Given the description of an element on the screen output the (x, y) to click on. 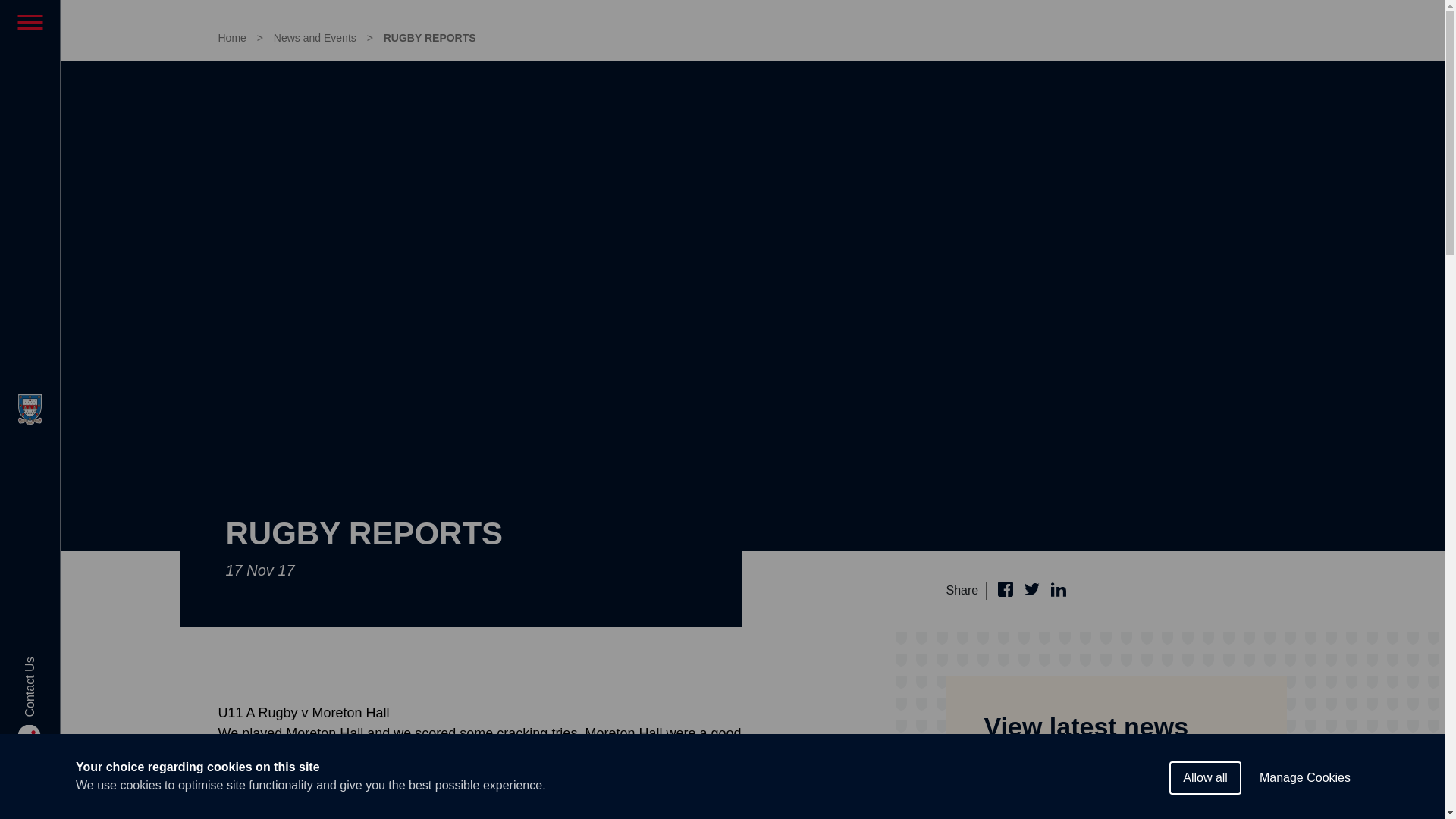
Life at Woodbridge School (29, 122)
Contact Us (51, 712)
About Woodbridge School (29, 71)
